Given the description of an element on the screen output the (x, y) to click on. 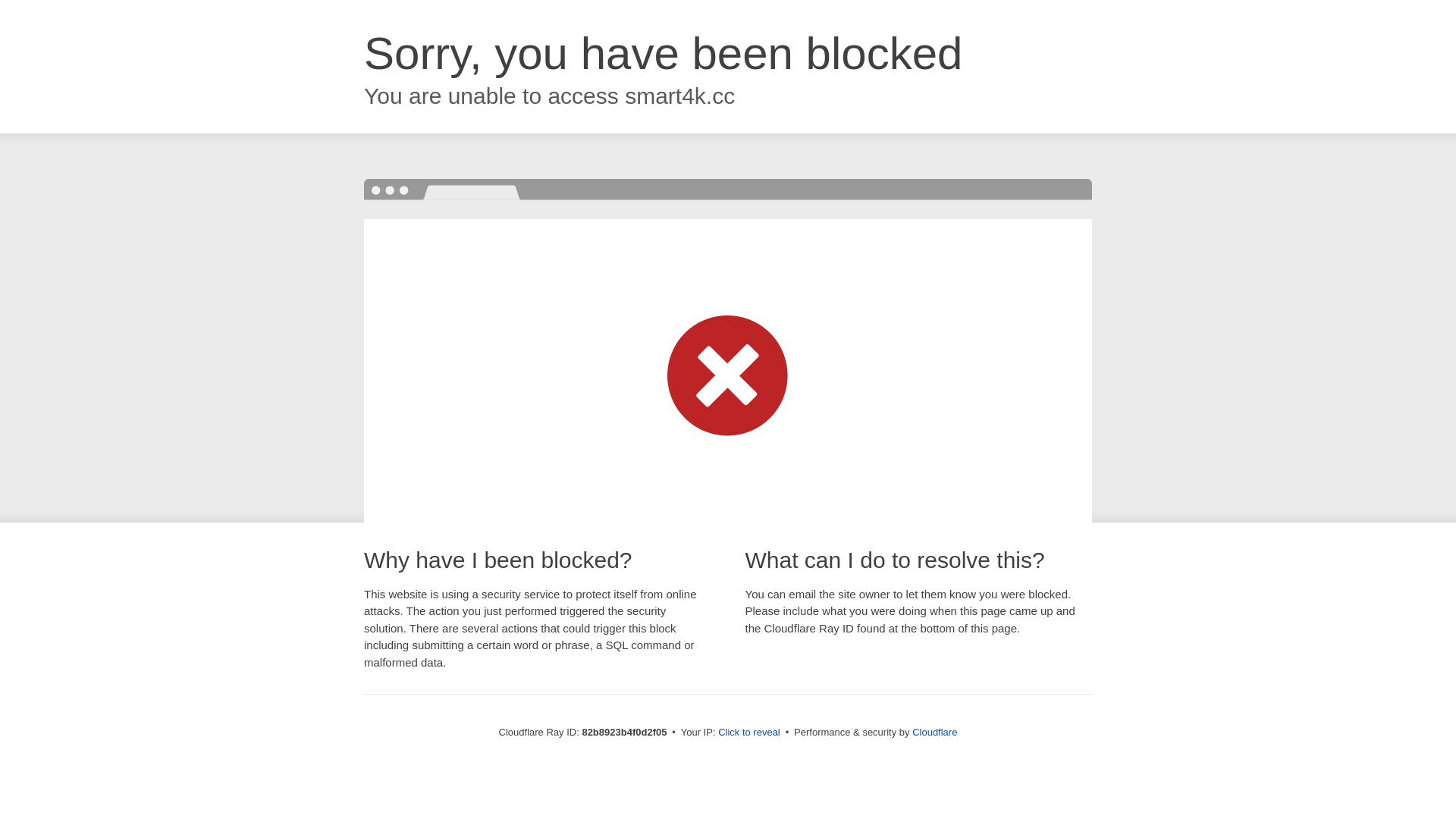
Click to reveal Element type: text (749, 732)
Cloudflare Element type: text (934, 731)
